Given the description of an element on the screen output the (x, y) to click on. 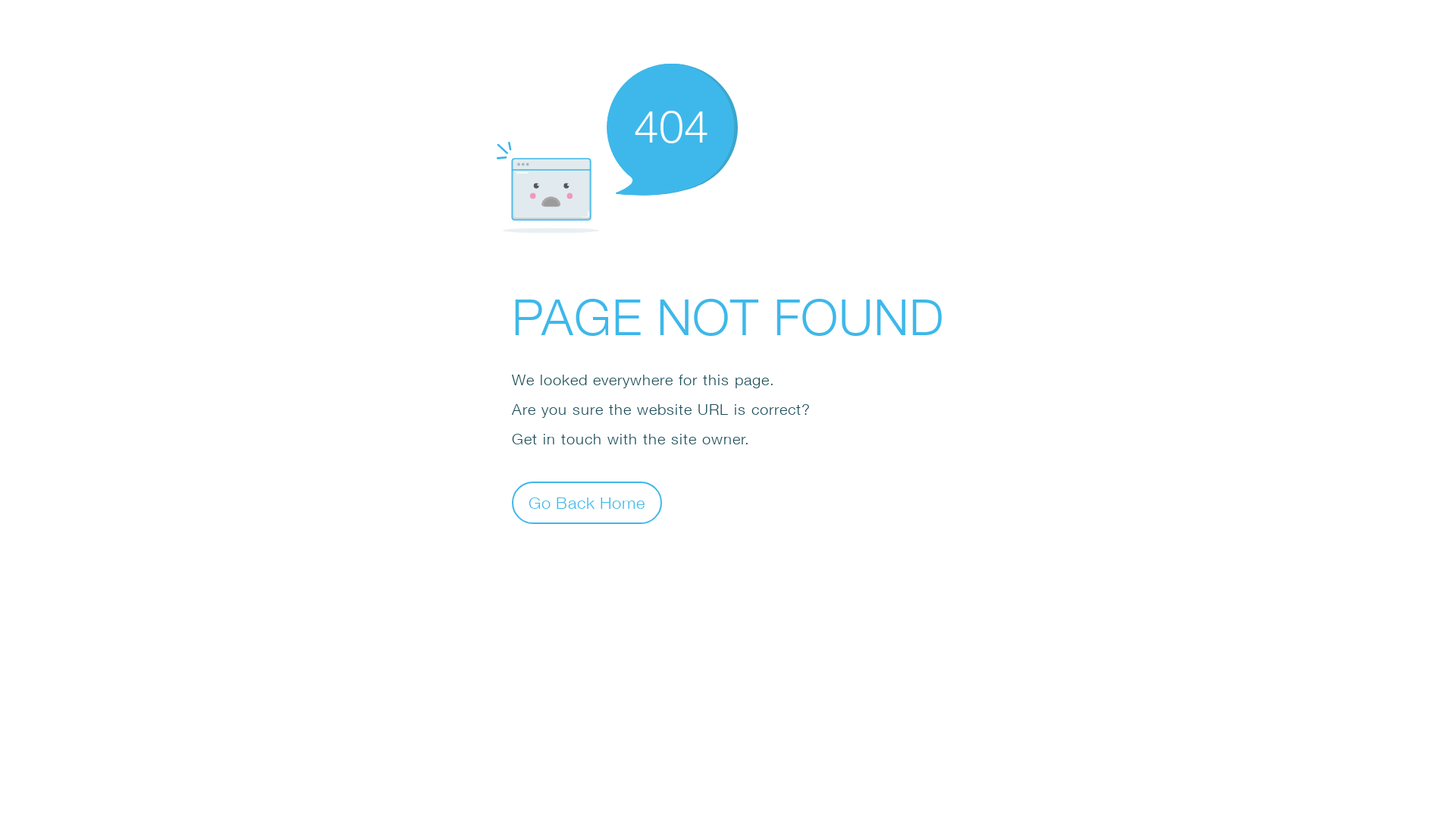
Go Back Home Element type: text (586, 502)
